Given the description of an element on the screen output the (x, y) to click on. 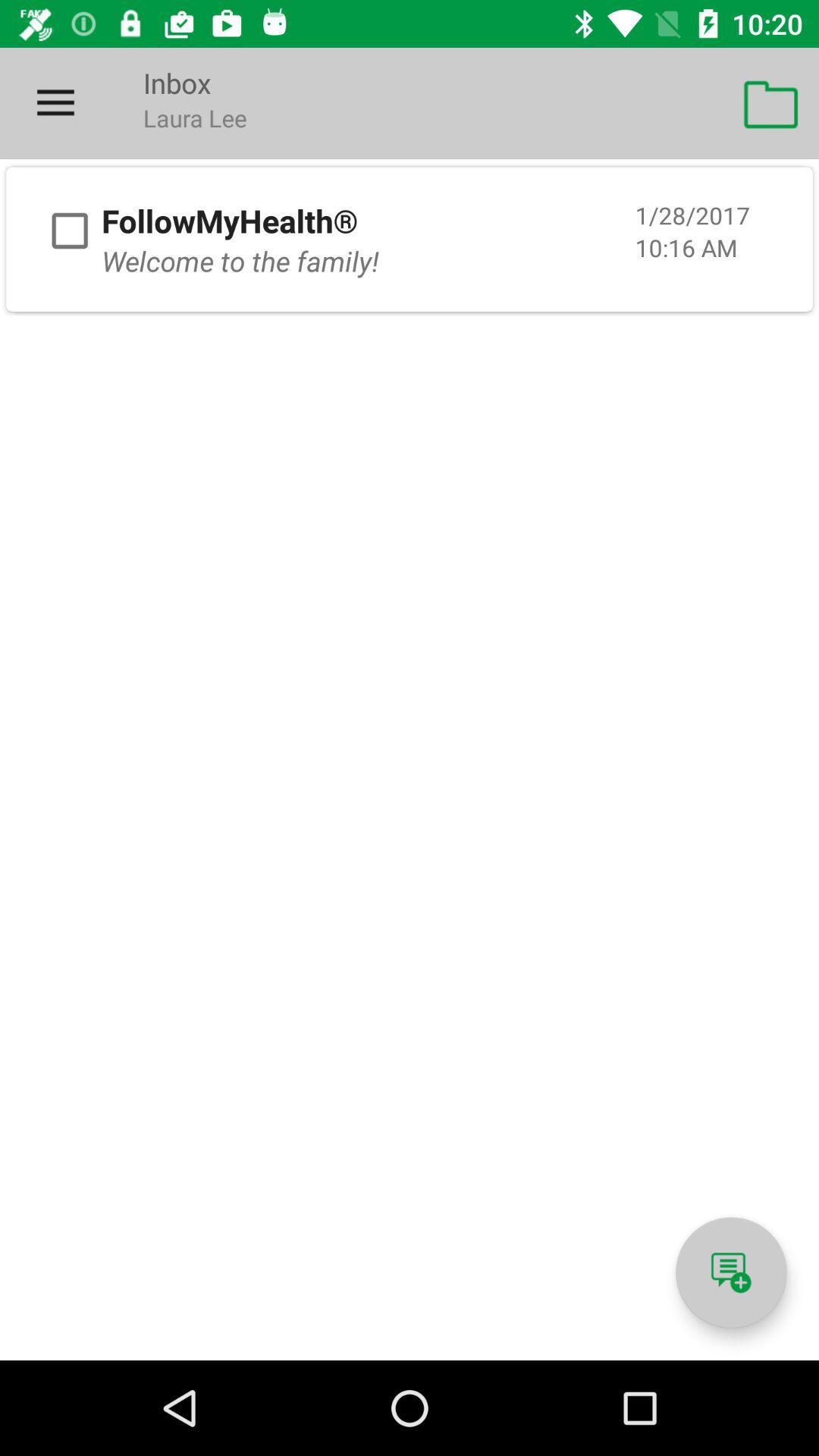
turn on icon next to inbox (55, 103)
